Given the description of an element on the screen output the (x, y) to click on. 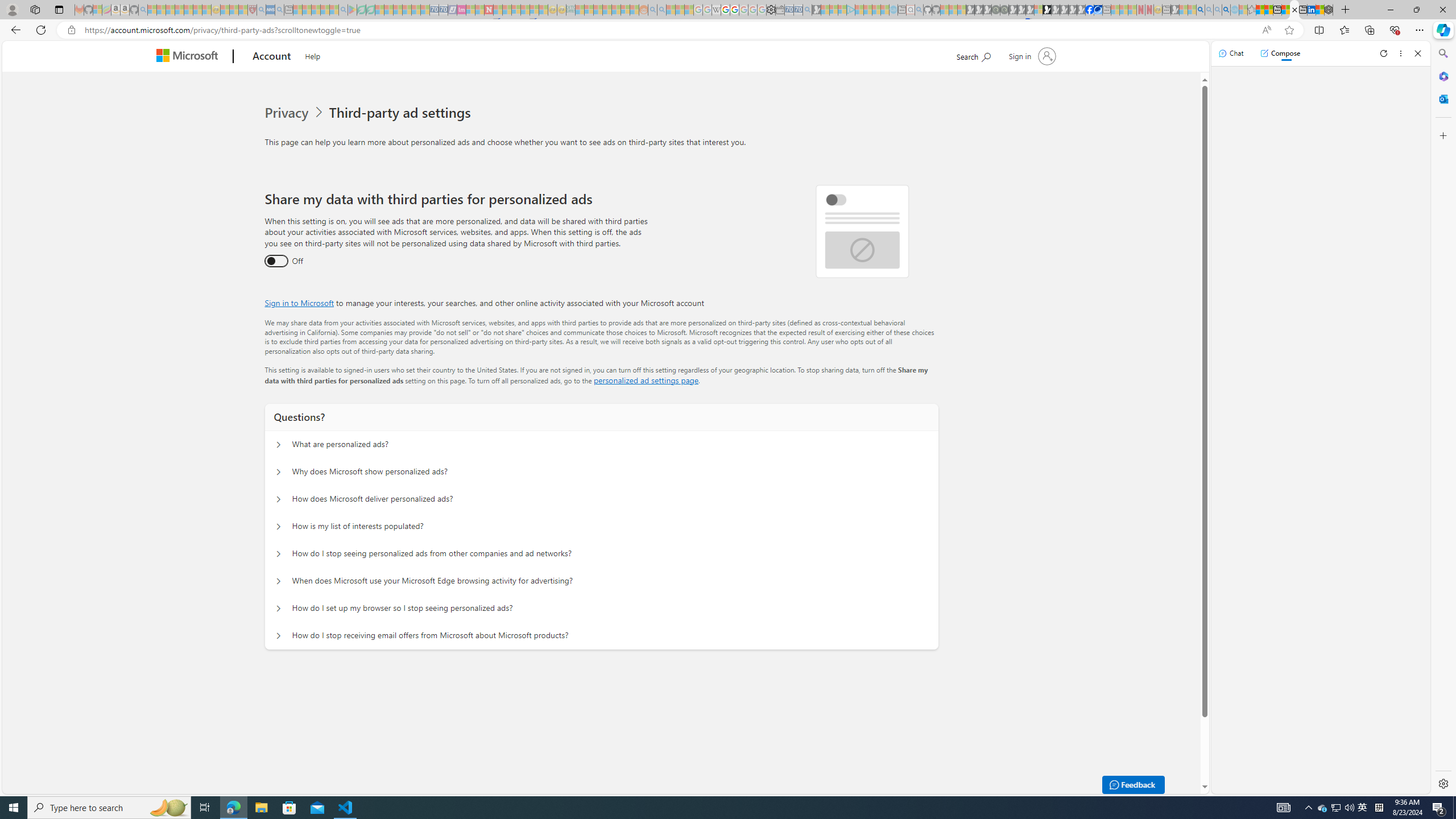
Questions? How does Microsoft deliver personalized ads? (278, 499)
Compose (1279, 52)
